Given the description of an element on the screen output the (x, y) to click on. 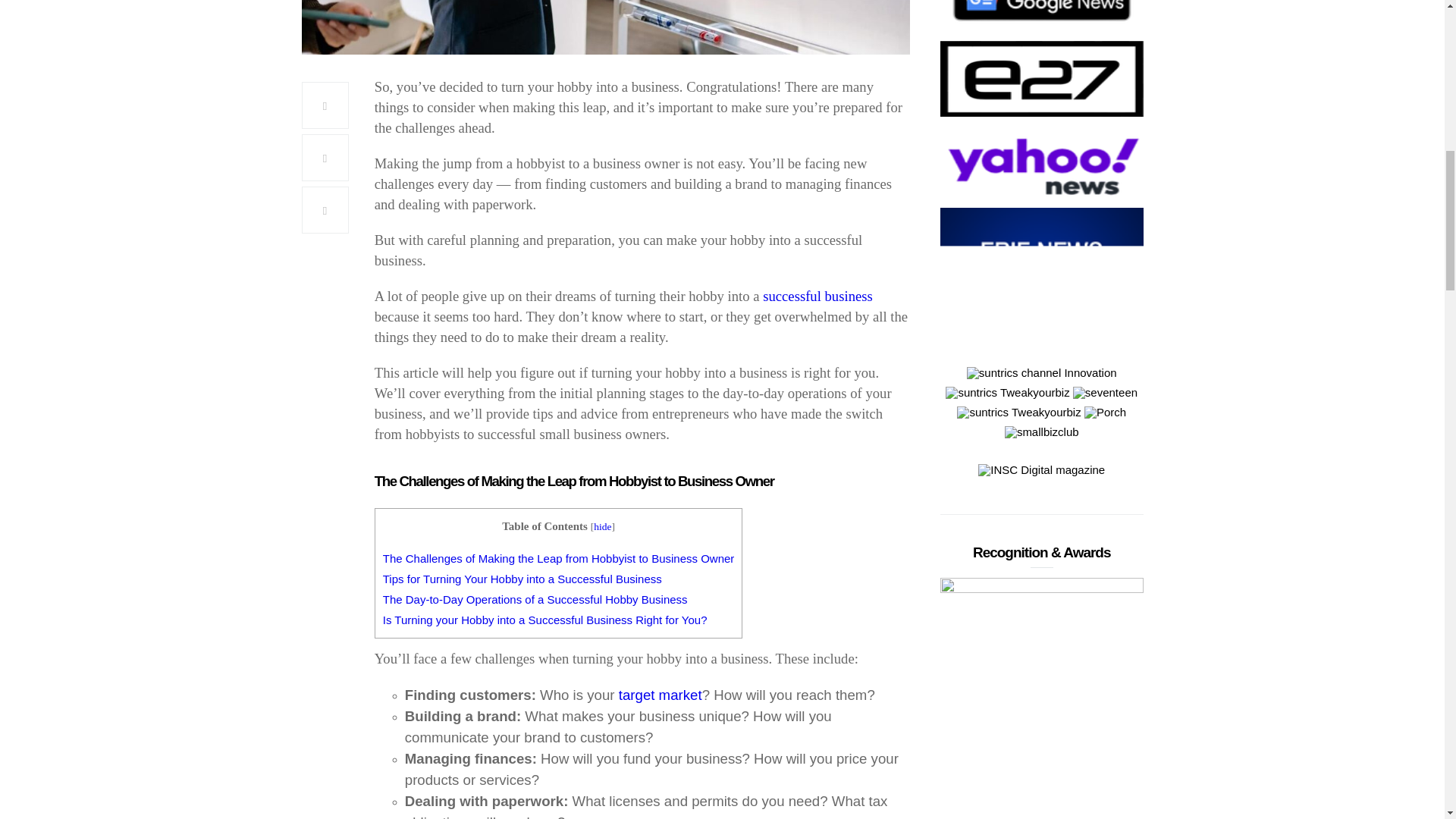
Share on Pinterest (325, 209)
Share on Twitter (325, 157)
Share on Facebook (325, 104)
